Given the description of an element on the screen output the (x, y) to click on. 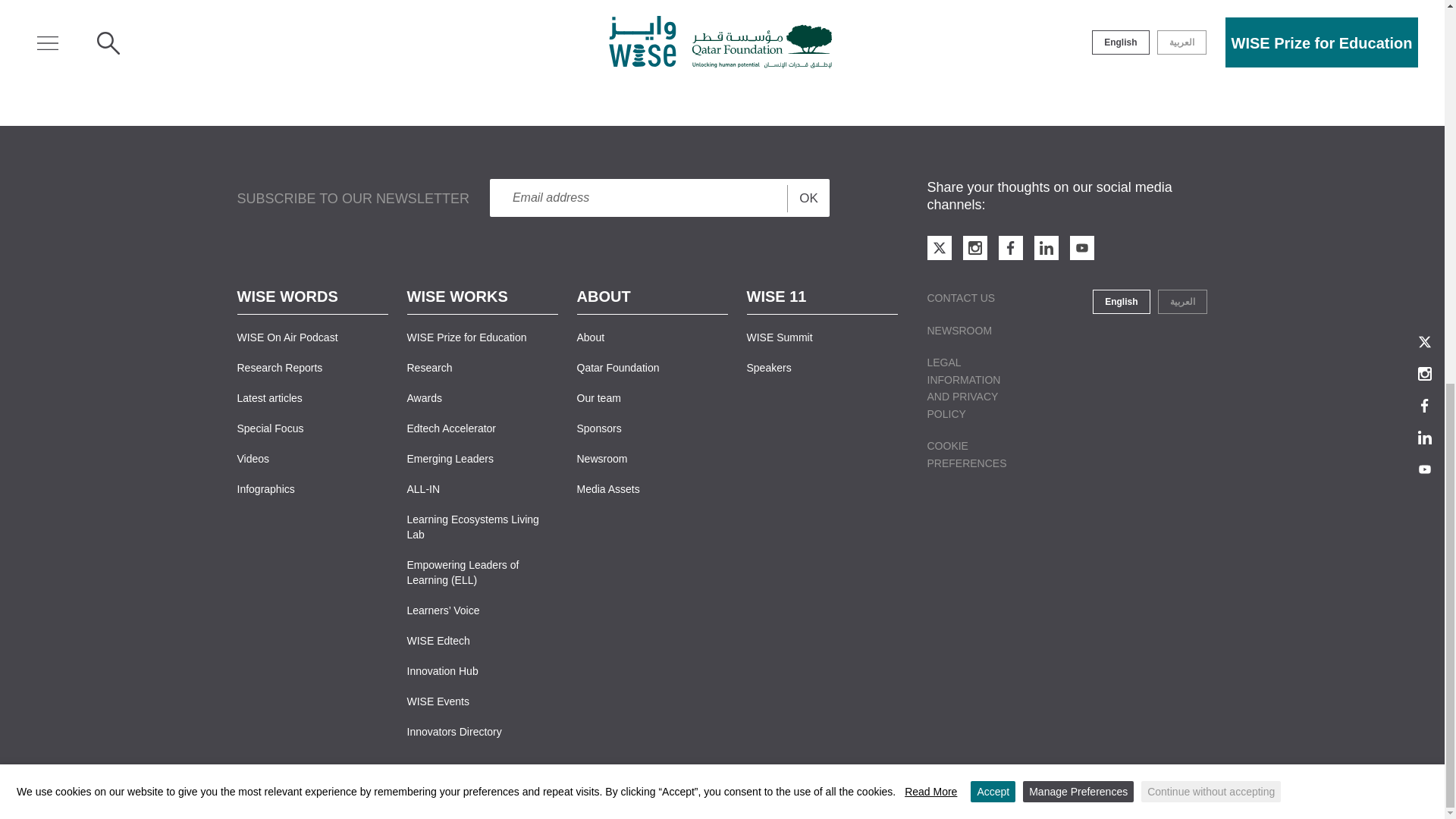
OK (808, 198)
